Given the description of an element on the screen output the (x, y) to click on. 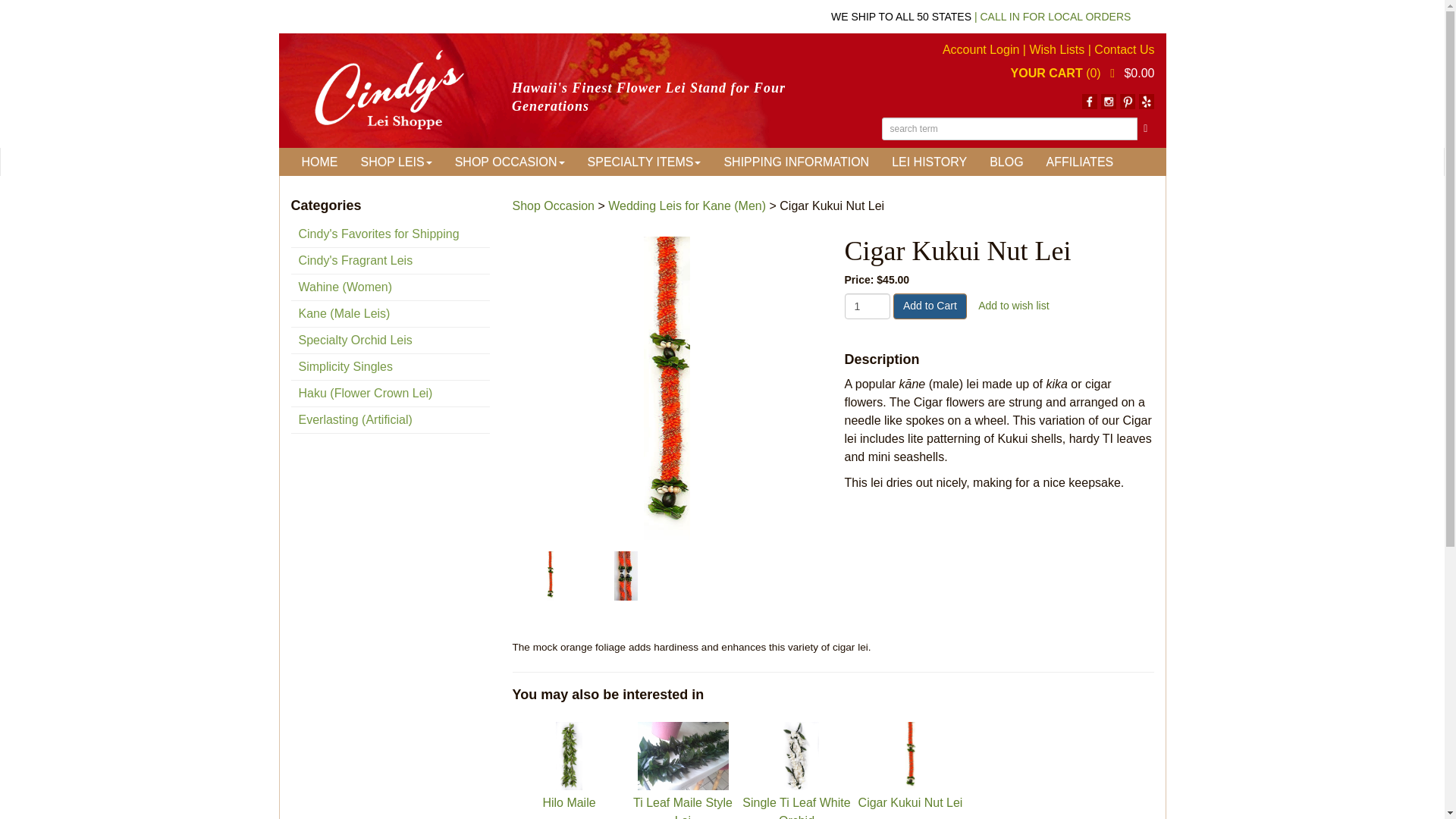
Account Login (980, 49)
CALL IN FOR LOCAL ORDERS (1055, 16)
WE SHIP TO ALL 50 STATES (901, 16)
SPECIALTY ITEMS (644, 162)
SHOP LEIS (395, 162)
1 (866, 306)
HOME (319, 162)
Contact Us (1124, 49)
SHOP OCCASION (510, 162)
Wish Lists (1056, 49)
